Given the description of an element on the screen output the (x, y) to click on. 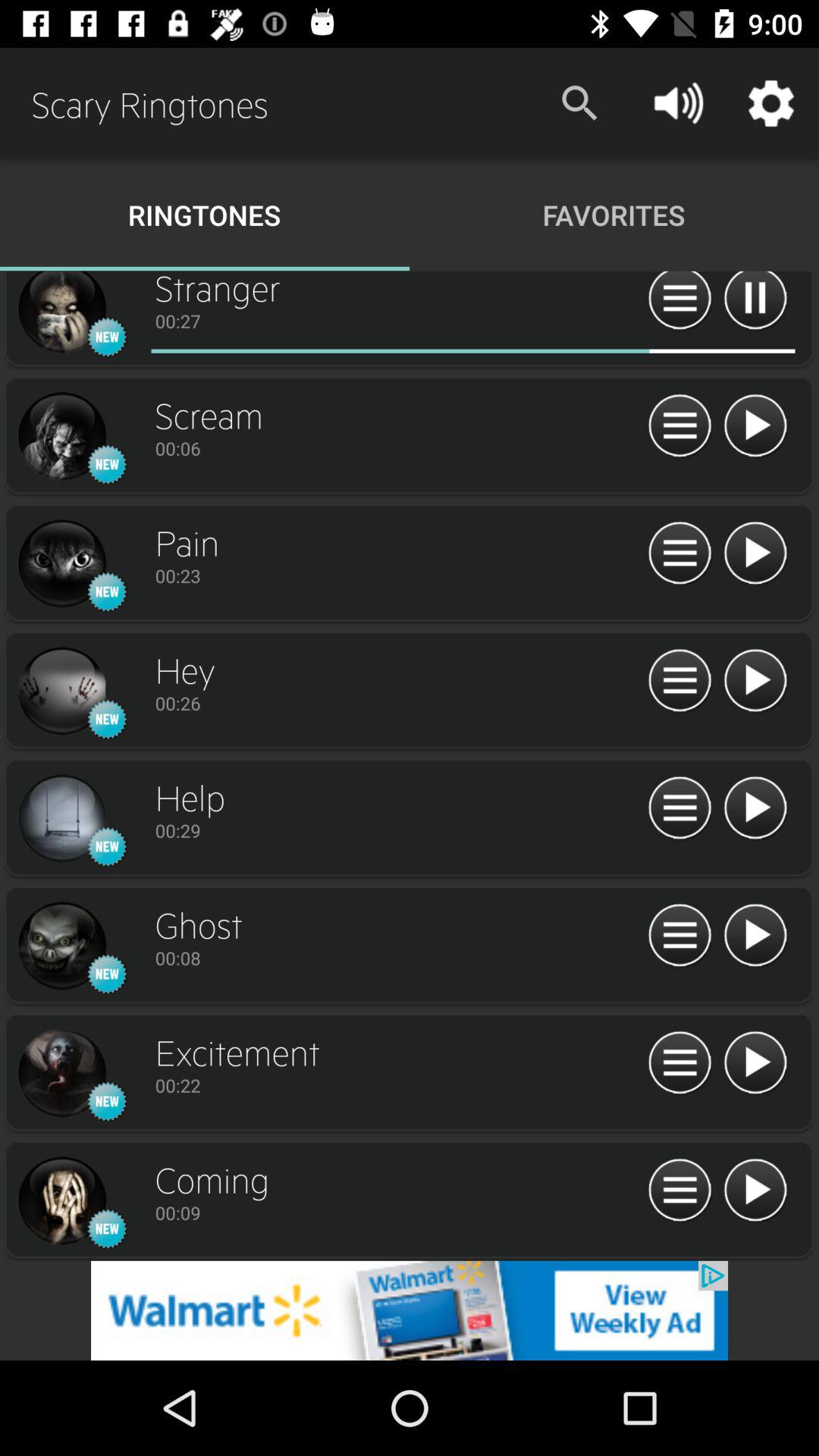
show song information (679, 302)
